Given the description of an element on the screen output the (x, y) to click on. 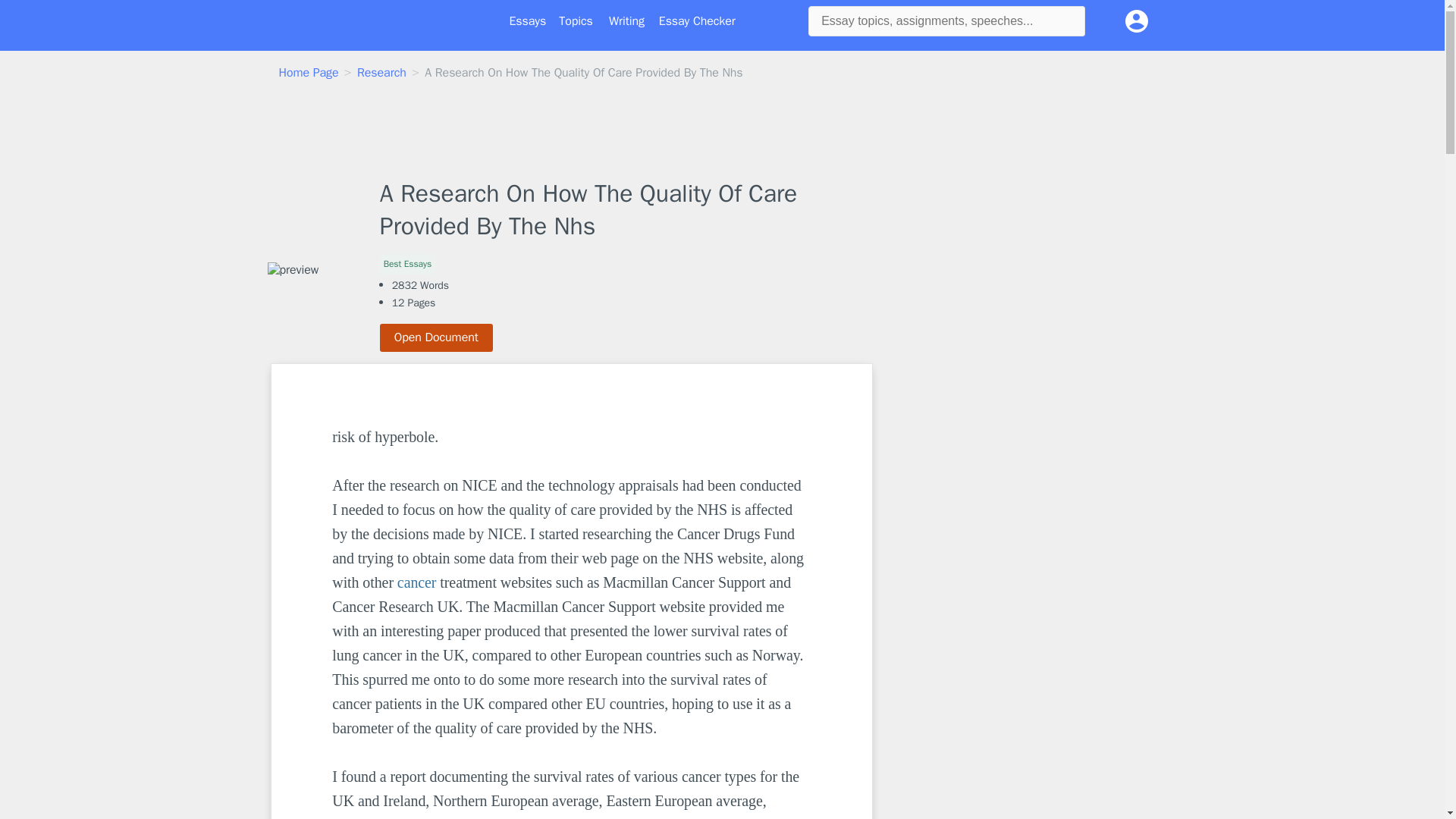
Topics (575, 20)
Writing (626, 20)
Home Page (309, 72)
Essays (528, 20)
Research (381, 72)
Open Document (436, 337)
Essay Checker (697, 20)
cancer (416, 582)
